Given the description of an element on the screen output the (x, y) to click on. 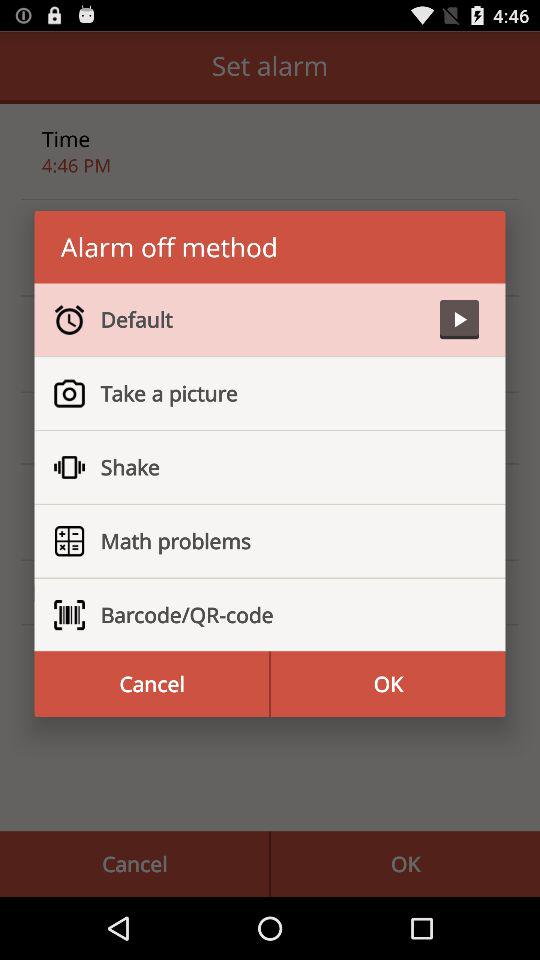
play alarm sound (459, 319)
